Given the description of an element on the screen output the (x, y) to click on. 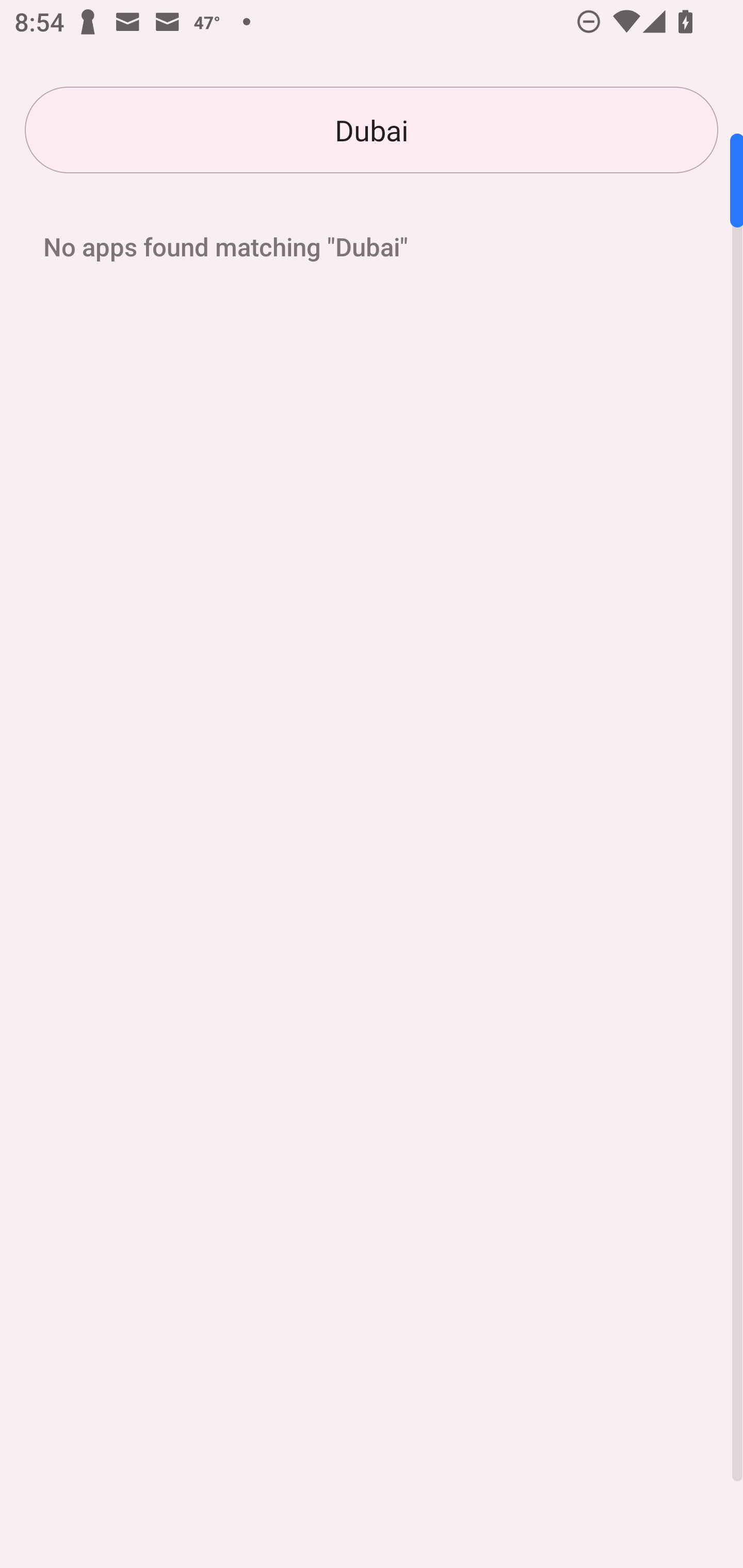
Dubai (371, 130)
